Given the description of an element on the screen output the (x, y) to click on. 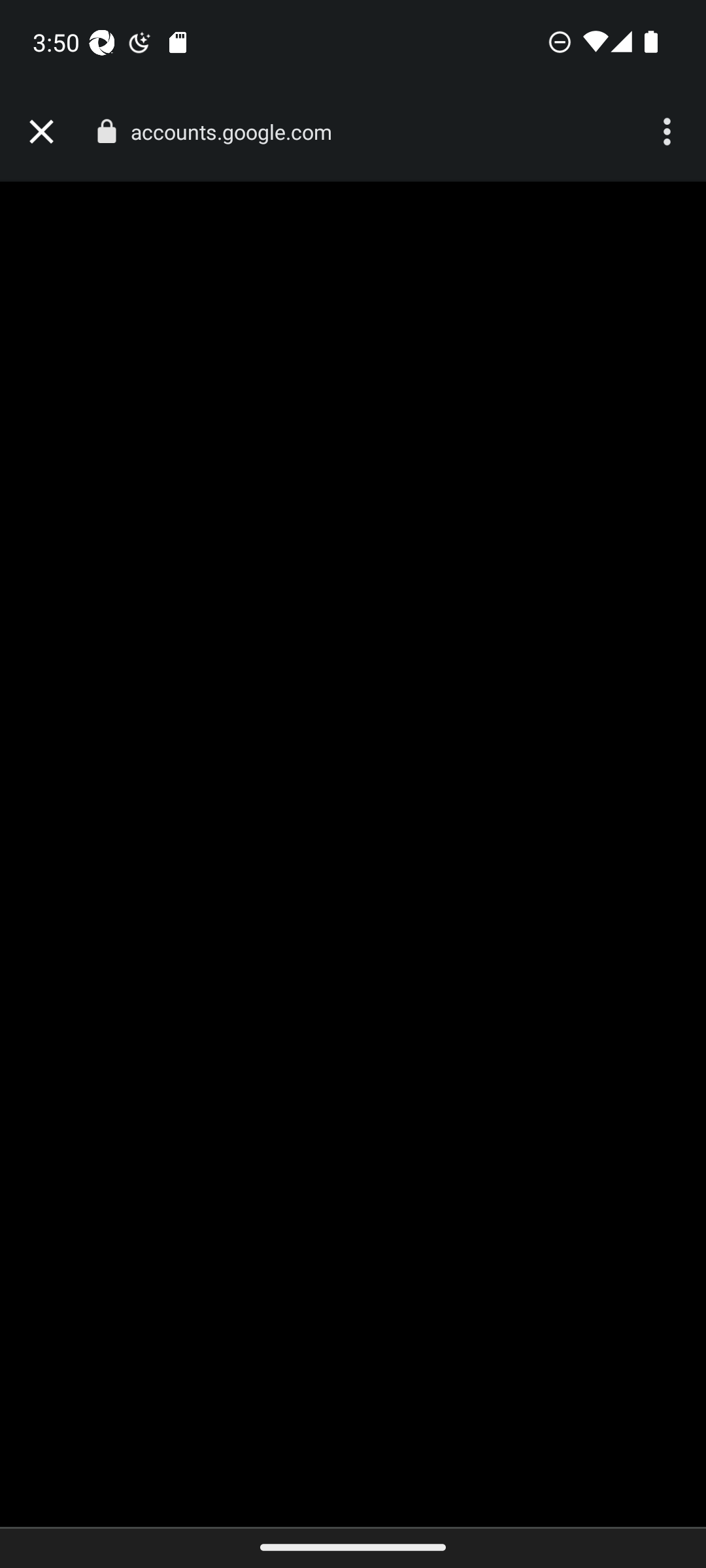
Close tab (41, 131)
More options (669, 131)
Connection is secure (106, 131)
accounts.google.com (237, 131)
